Given the description of an element on the screen output the (x, y) to click on. 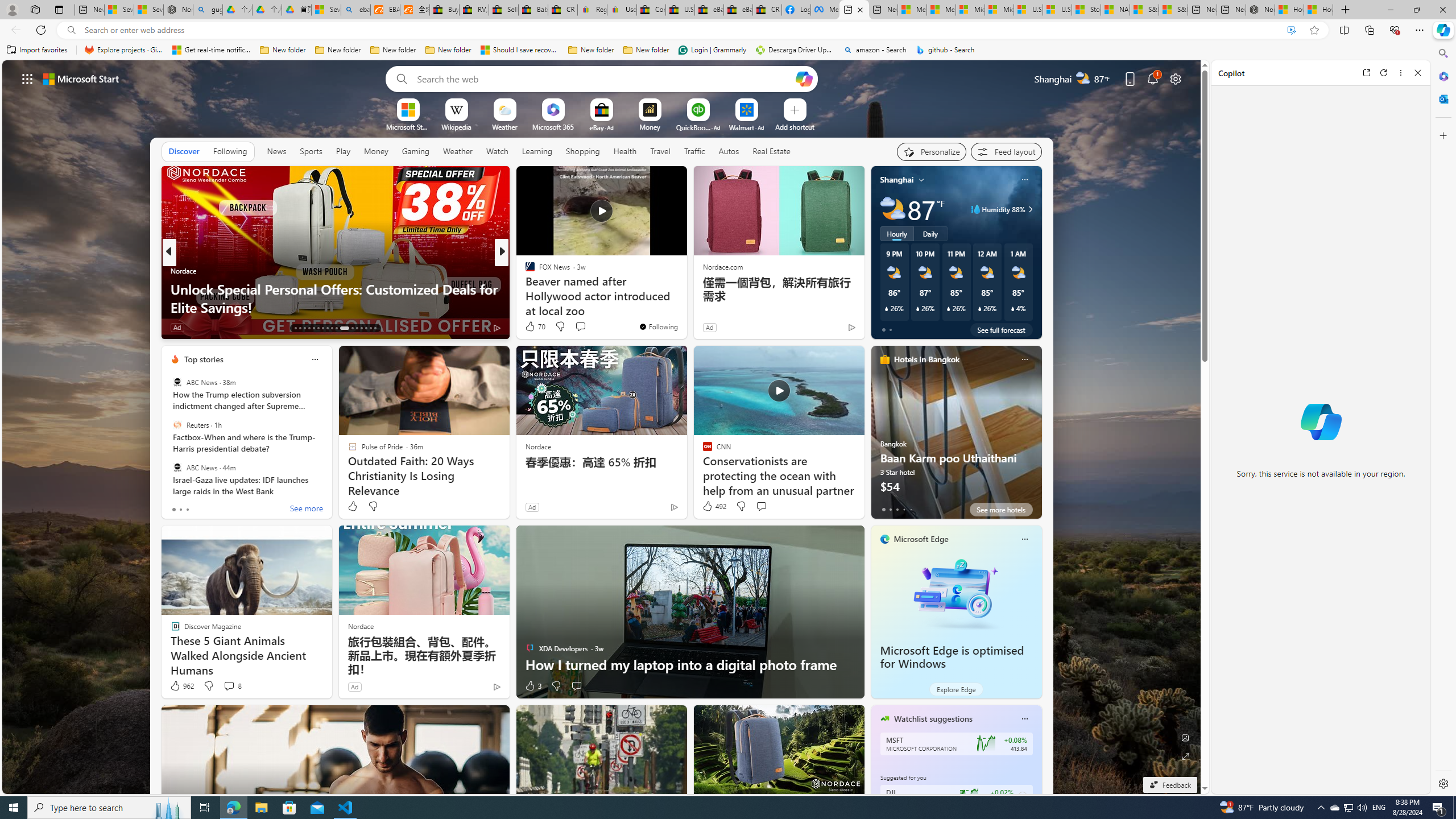
Buy Auto Parts & Accessories | eBay (444, 9)
Health (624, 151)
Back (13, 29)
Browser essentials (1394, 29)
News (276, 151)
Autos (729, 151)
You're following FOX News (657, 326)
Ad Choice (496, 686)
Learning (536, 151)
My location (921, 179)
Play (342, 151)
Weather (457, 151)
